Given the description of an element on the screen output the (x, y) to click on. 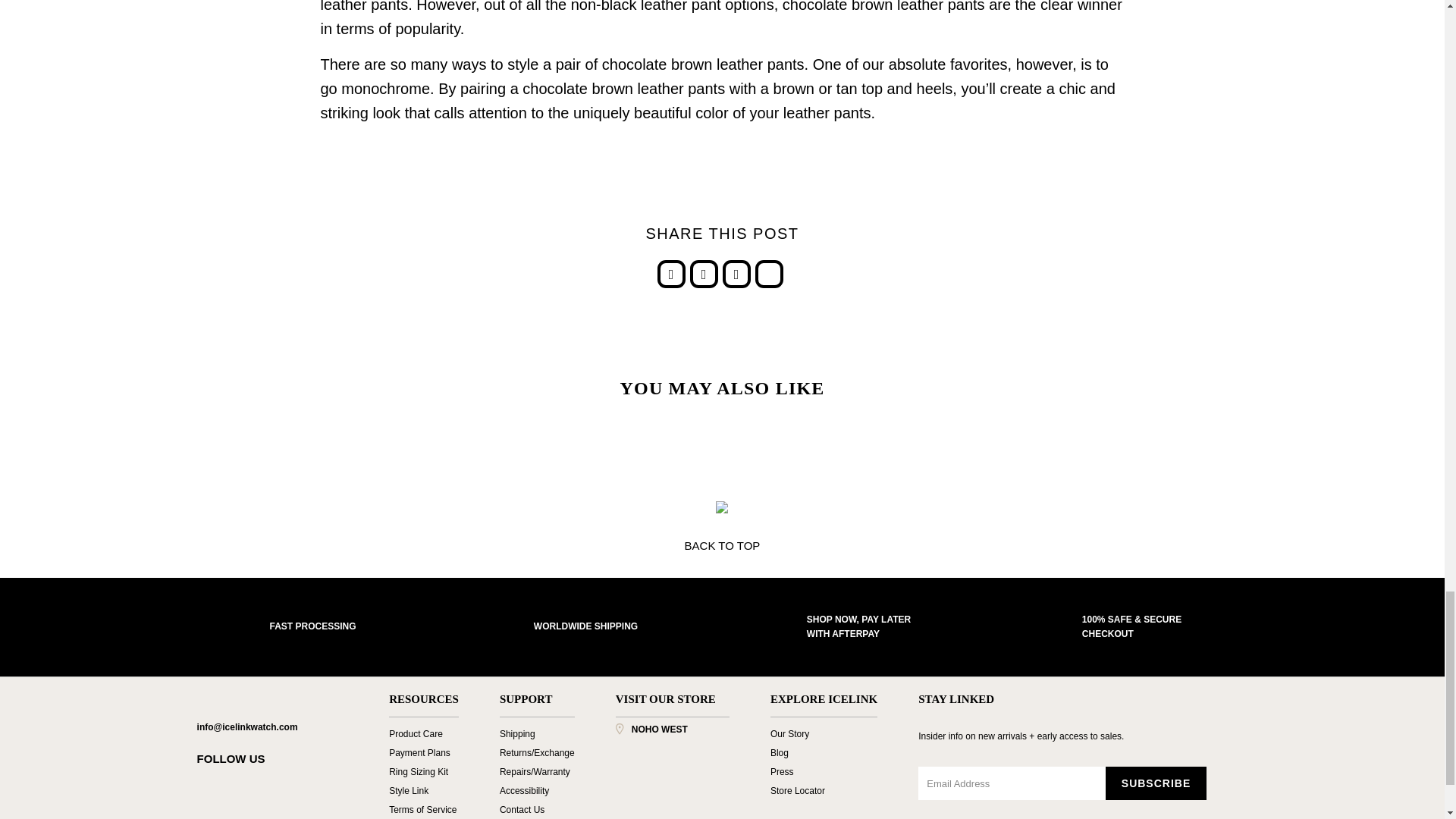
Share this on Twitter (735, 273)
IceLink on Instagram (312, 785)
Share this on Facebook (703, 273)
Email this to a friend (769, 273)
Share this on Pinterest (670, 273)
IceLink on YouTube (259, 785)
IceLink on Pinterest (286, 785)
IceLink on Facebook (233, 785)
SUBSCRIBE (1156, 783)
IceLink on Twitter (207, 785)
